Given the description of an element on the screen output the (x, y) to click on. 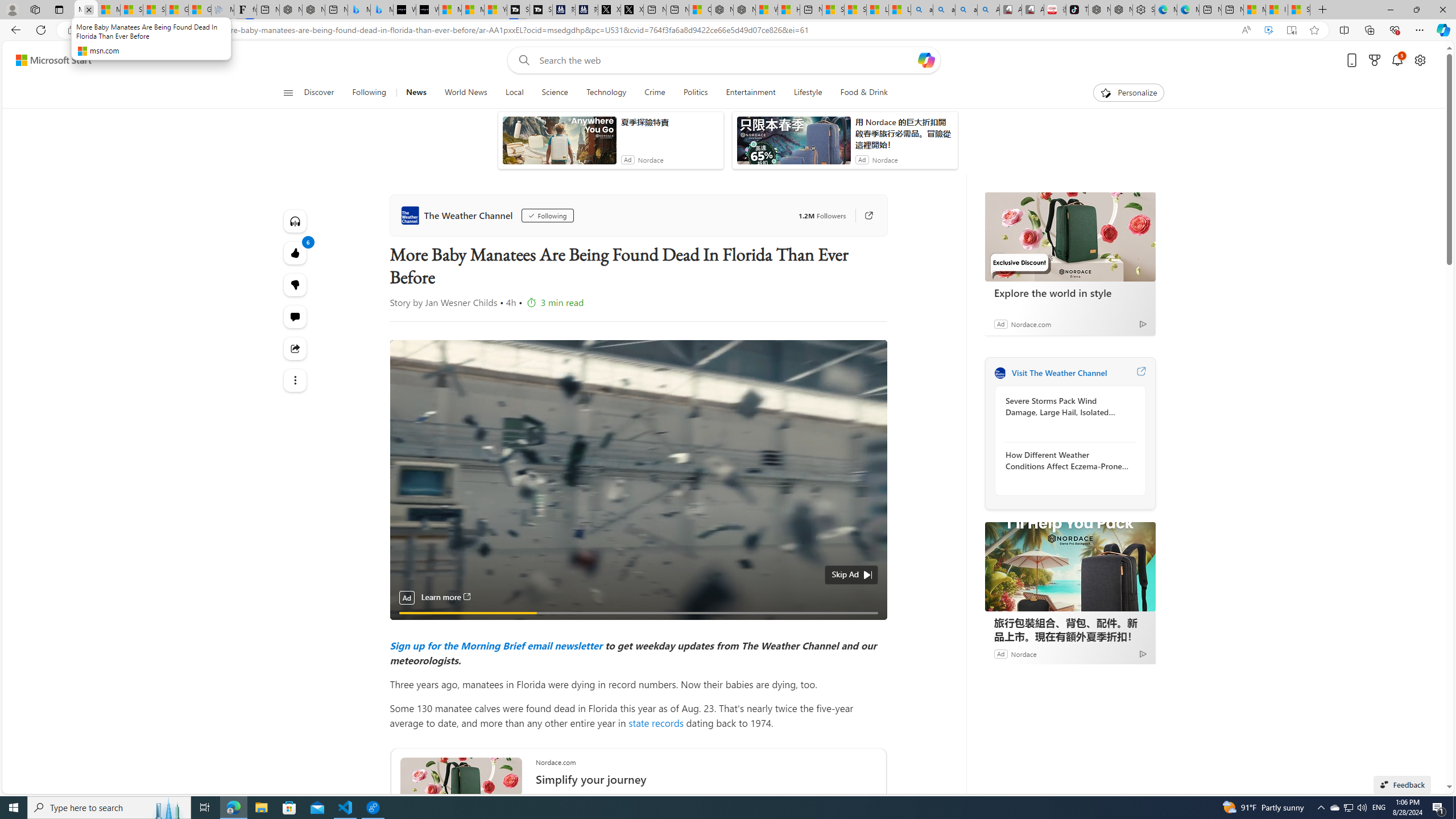
Enter your search term (726, 59)
6 Like (295, 252)
Skip to content (49, 59)
Visit The Weather Channel website (1140, 372)
Nordace - #1 Japanese Best-Seller - Siena Smart Backpack (313, 9)
Skip to footer (46, 59)
